Given the description of an element on the screen output the (x, y) to click on. 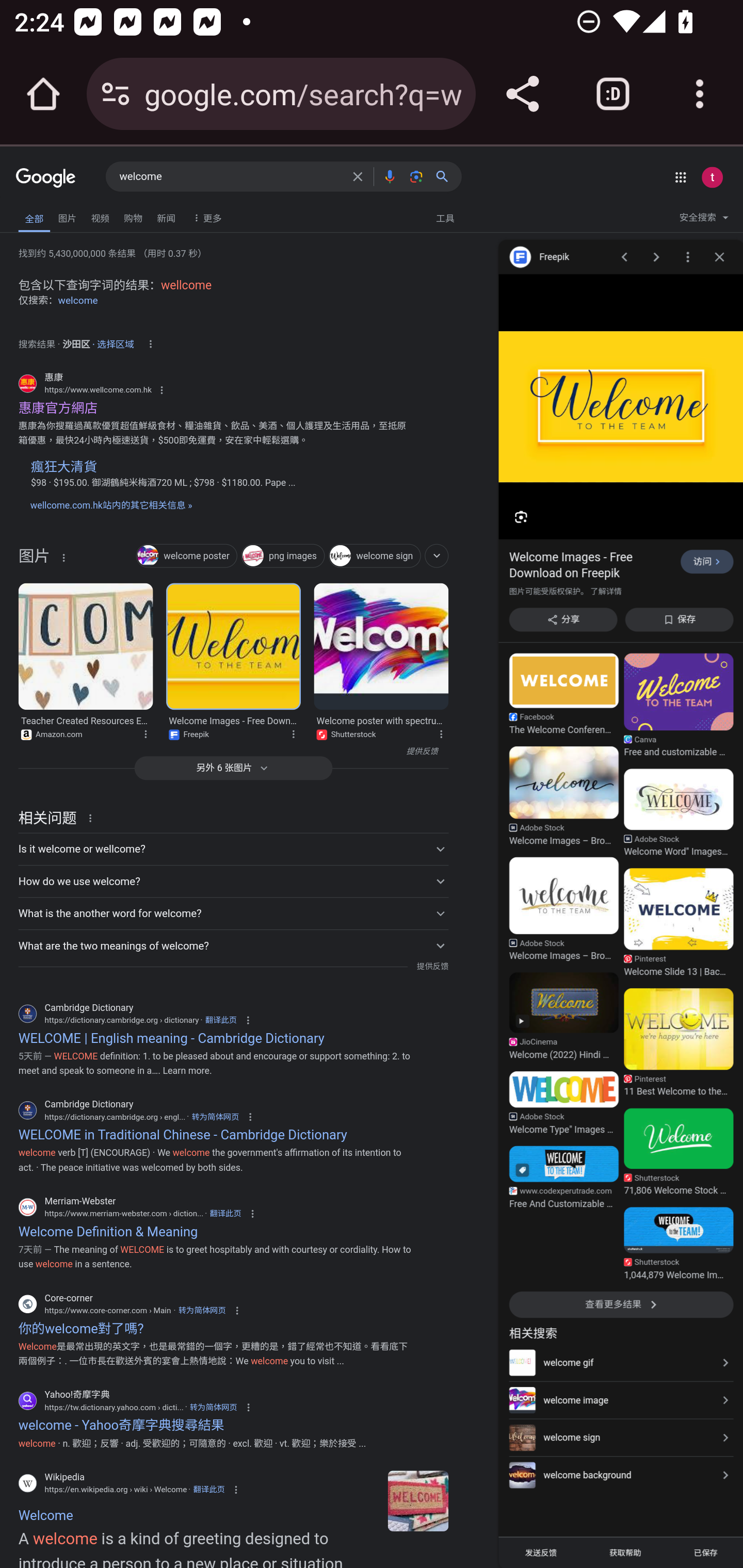
Open the home page (43, 93)
Connection is secure (115, 93)
Share (522, 93)
Switch or close tabs (612, 93)
Customize and control Google Chrome (699, 93)
清除 (357, 176)
按语音搜索 (389, 176)
按图搜索 (415, 176)
搜索 (446, 176)
Google 应用 (680, 176)
Google 账号： test appium (testappium002@gmail.com) (712, 176)
Google (45, 178)
welcome (229, 177)
无障碍功能反馈 (42, 212)
图片 (67, 216)
视频 (99, 216)
购物 (133, 216)
新闻 (166, 216)
更多 (205, 216)
安全搜索 (703, 219)
工具 (444, 216)
wellcome (185, 285)
welcome (77, 299)
选择区域 (115, 341)
位置信息使用方式 (149, 343)
瘋狂大清貨 (62, 466)
wellcome.com.hk站内的其它相关信息 » (110, 505)
图片 (33, 559)
welcome poster (186, 556)
png images (282, 556)
welcome sign (374, 556)
按功能过滤 (436, 554)
关于这条结果的详细信息 (62, 557)
Welcome Images - Free Download on Freepik (233, 646)
关于这条结果的详细信息 (148, 732)
关于这条结果的详细信息 (296, 732)
关于这条结果的详细信息 (444, 732)
另外 6 张图片 (232, 767)
关于这条结果的详细信息 (93, 817)
Is it welcome or wellcome? (232, 848)
How do we use welcome? (232, 880)
What is the another word for welcome? (232, 912)
What are the two meanings of welcome? (232, 945)
提供反馈 (432, 966)
翻译此页 (220, 1020)
转为简体网页 (214, 1116)
翻译此页 (225, 1213)
转为简体网页 (201, 1310)
转为简体网页 (212, 1406)
Welcome (417, 1500)
翻译此页 (208, 1489)
